Given the description of an element on the screen output the (x, y) to click on. 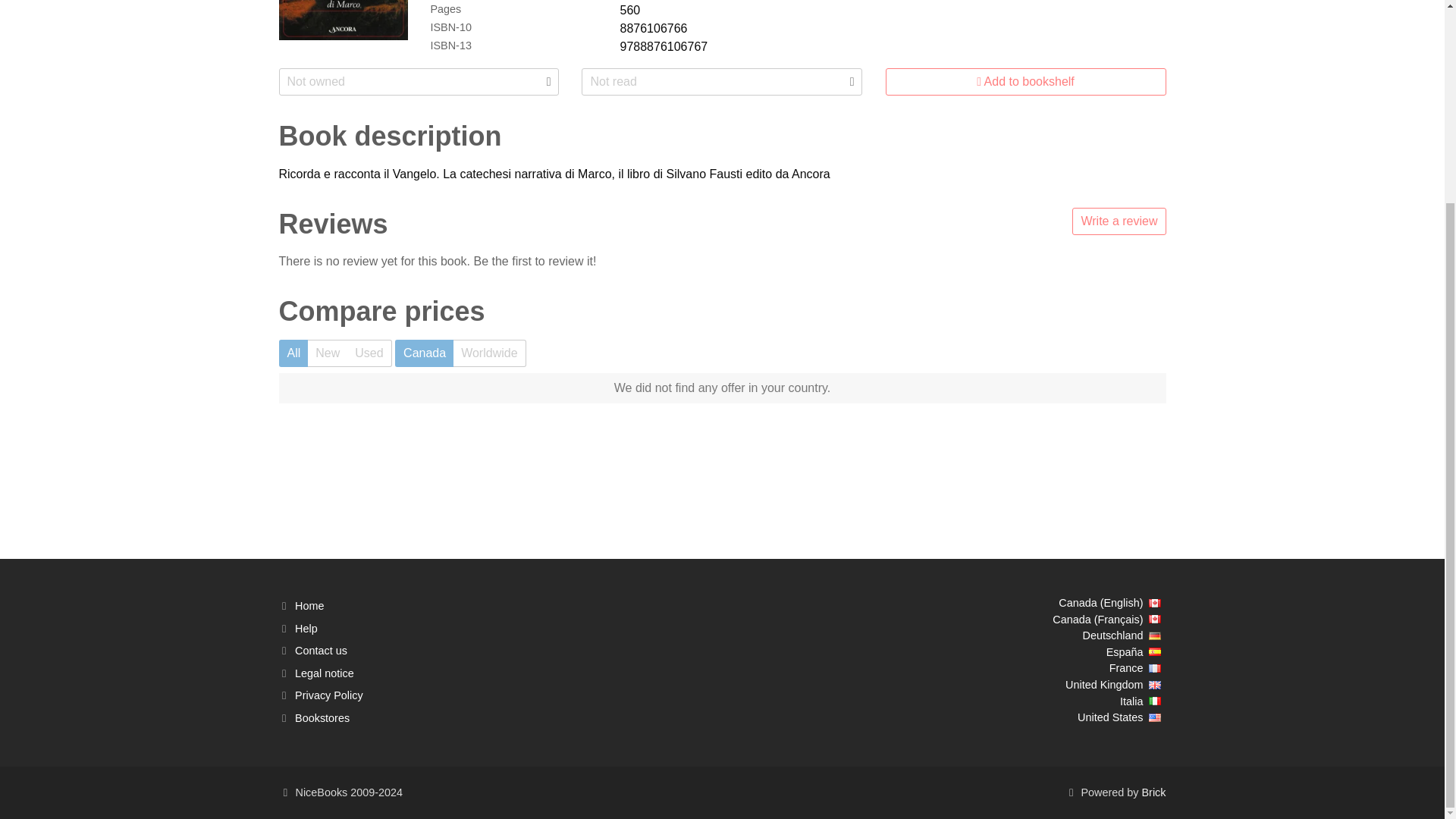
Home (309, 605)
United States (1118, 716)
Worldwide (488, 352)
Legal notice (324, 673)
United Kingdom (1112, 684)
Brick (1153, 792)
Not read (720, 81)
Italia (1140, 701)
Privacy Policy (328, 695)
Add to bookshelf (1025, 81)
Used (369, 352)
Canada (423, 352)
All (293, 352)
Contact us (321, 650)
Not owned (419, 81)
